Given the description of an element on the screen output the (x, y) to click on. 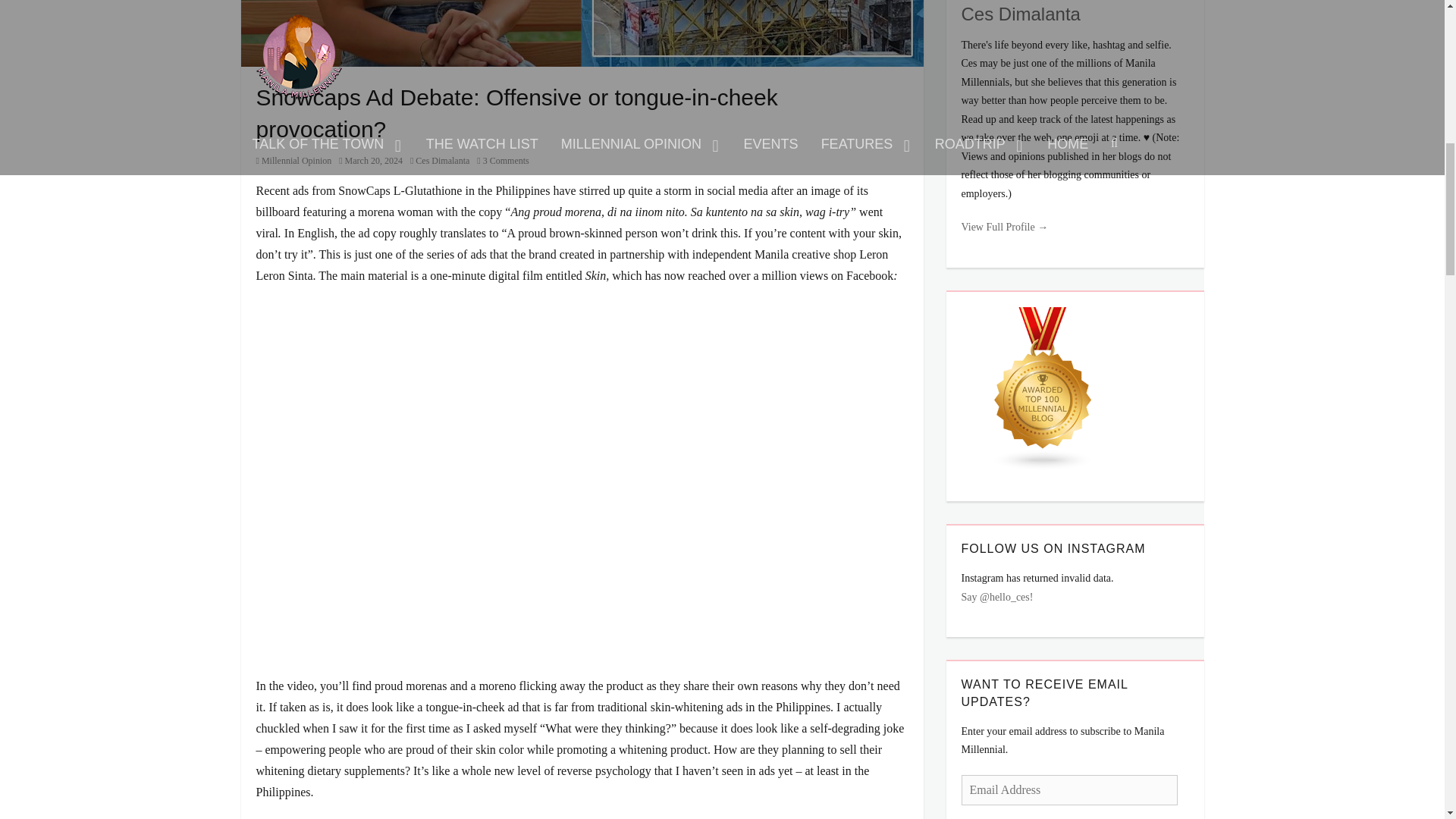
Millennial blogs (1042, 387)
Millennial Opinion (293, 160)
March 20, 2024 (371, 160)
Ces Dimalanta (439, 160)
3 Comments (502, 160)
